Given the description of an element on the screen output the (x, y) to click on. 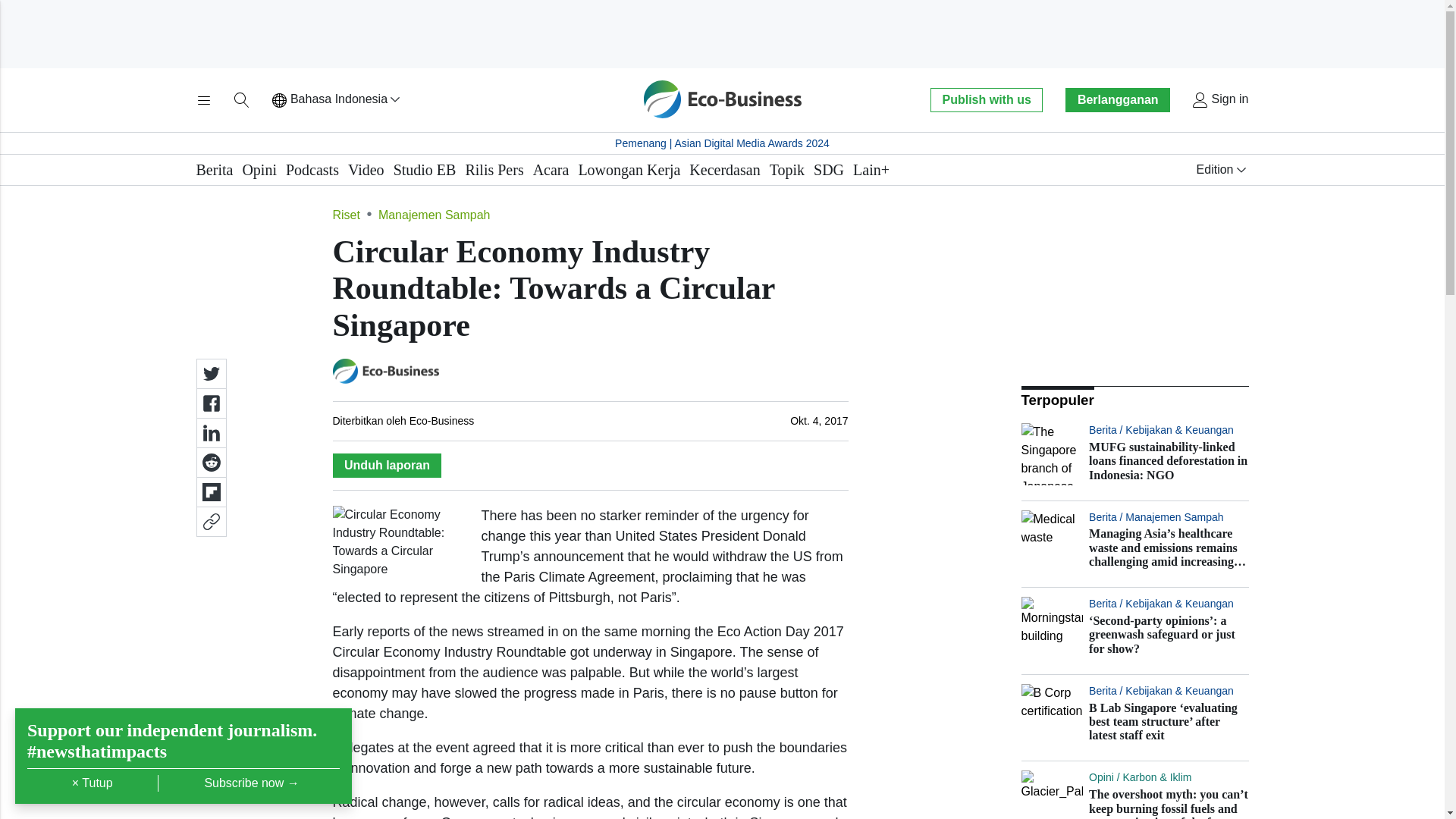
Toggle menu (203, 99)
Berita (213, 169)
Share on Facebook (210, 403)
Studio EB (425, 169)
Acara (550, 169)
Podcasts (312, 169)
Share on Twitter (210, 373)
Share on Reddit (210, 462)
Sign in (1219, 99)
Video (365, 169)
